Given the description of an element on the screen output the (x, y) to click on. 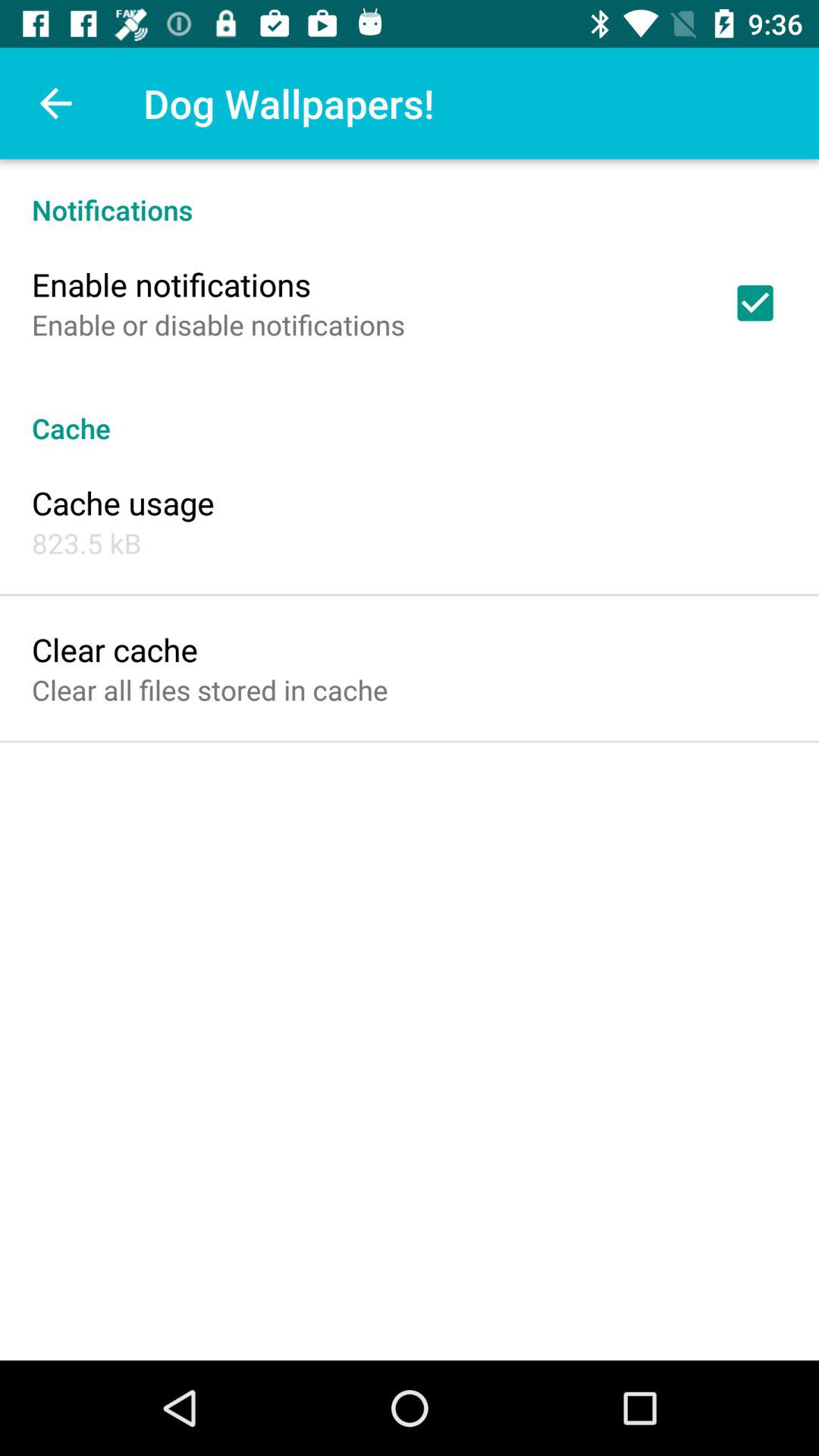
launch the icon at the top right corner (755, 302)
